Given the description of an element on the screen output the (x, y) to click on. 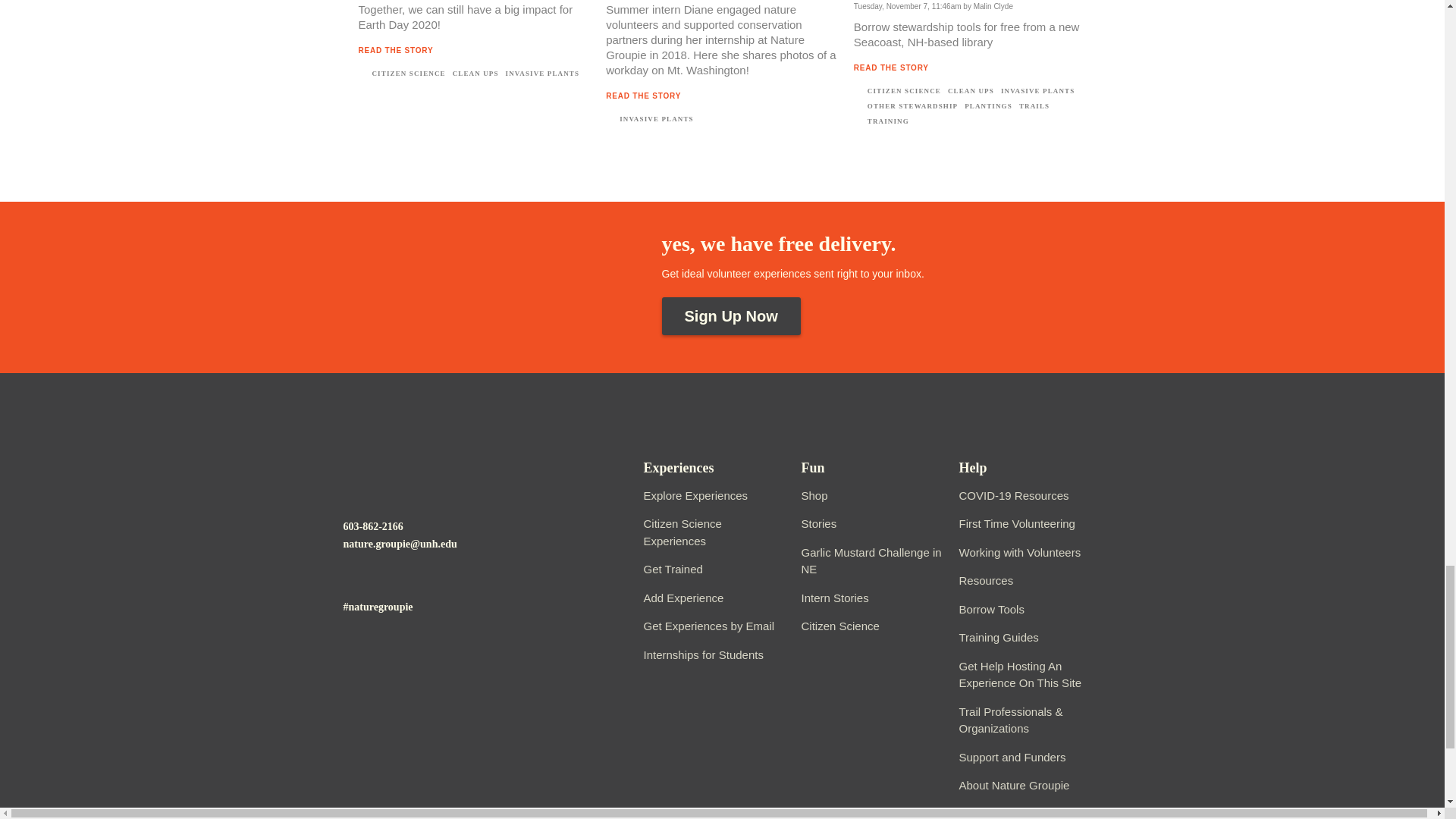
Learn ways you can do science! (839, 625)
Explore Citizen Science Experiences (681, 531)
Resources for working with volunteers (1019, 552)
Shop for Nature Groupie Gear! (813, 495)
Join a Pull! (870, 561)
Stewardship Tool Libraries (990, 608)
Resources for volunteering outdoors during COVID-19 pandemic (1013, 495)
